Given the description of an element on the screen output the (x, y) to click on. 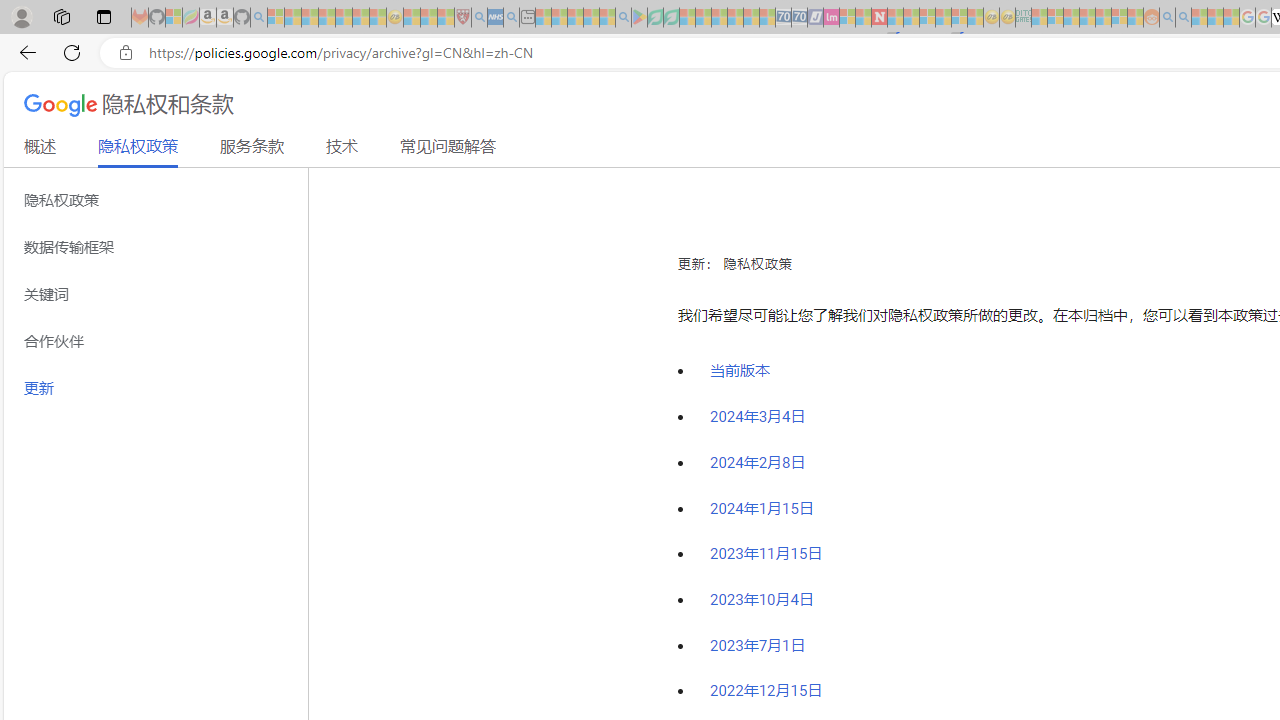
Kinda Frugal - MSN - Sleeping (1103, 17)
Microsoft account | Privacy - Sleeping (1055, 17)
Utah sues federal government - Search - Sleeping (1183, 17)
google - Search - Sleeping (623, 17)
